Given the description of an element on the screen output the (x, y) to click on. 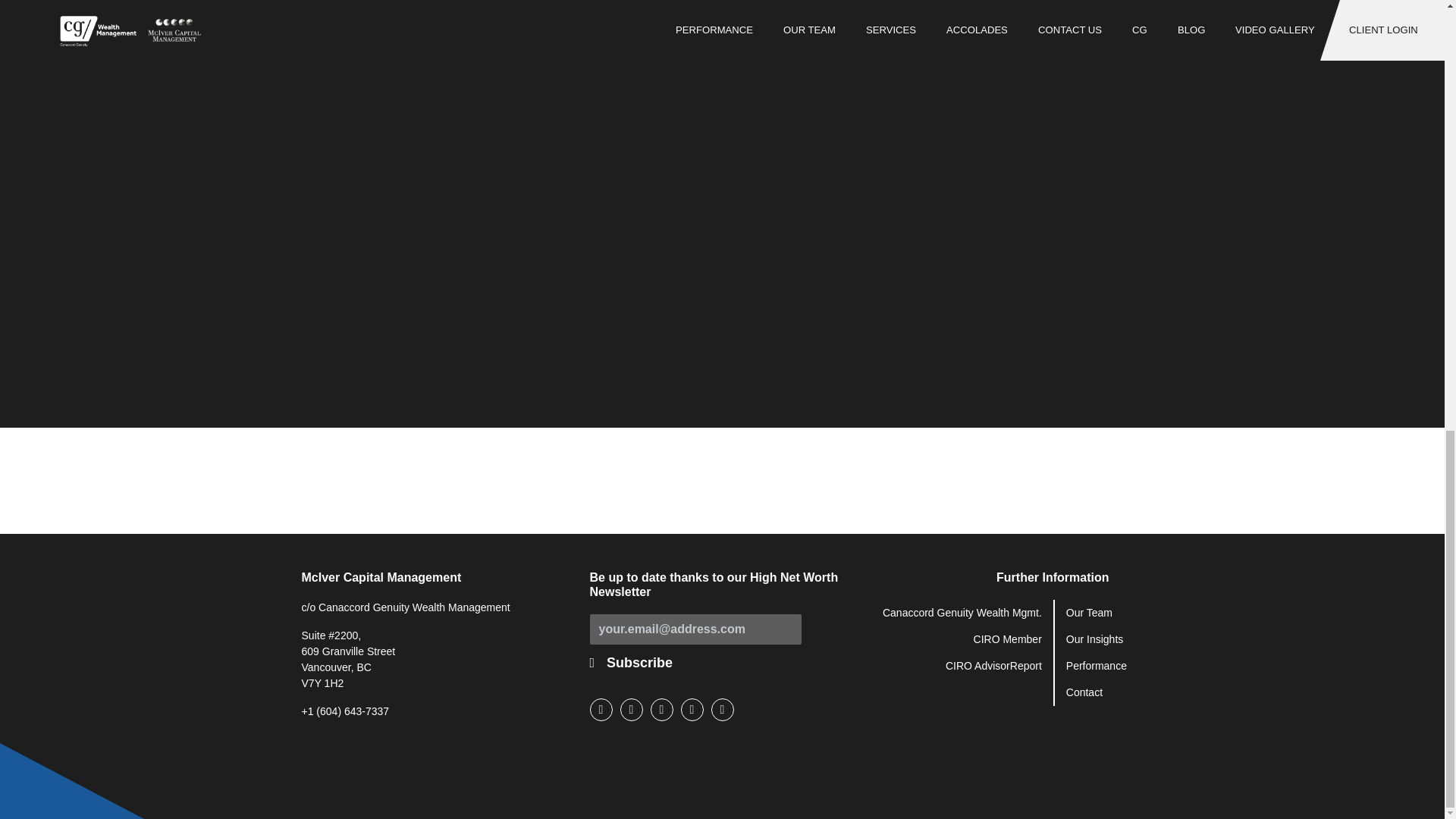
CIRO Member (1008, 639)
Subscribe (639, 662)
Subscribe (639, 662)
CIRO AdvisorReport (993, 665)
